Given the description of an element on the screen output the (x, y) to click on. 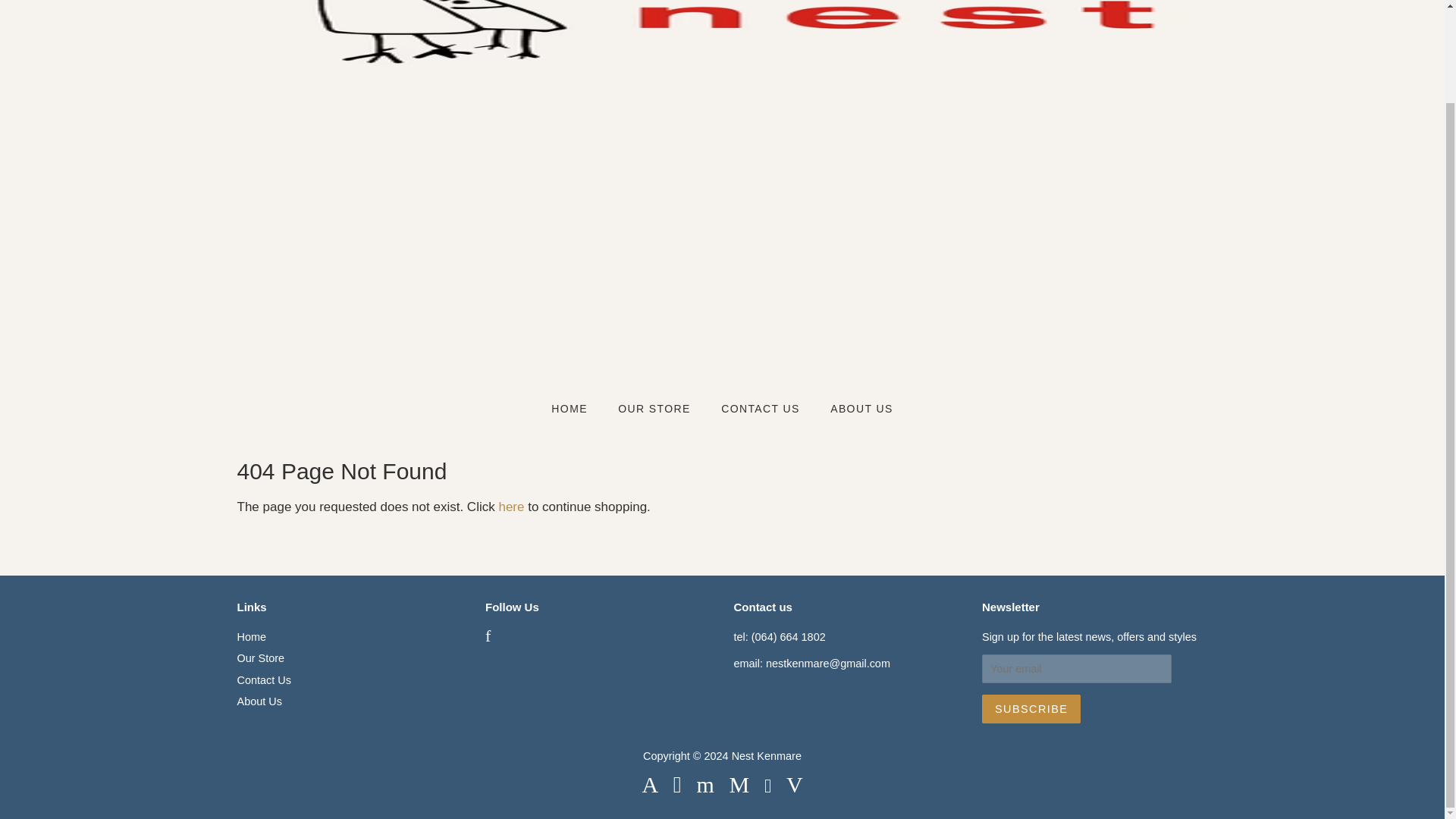
here (510, 506)
Subscribe (1030, 708)
Our Store (259, 657)
Home (250, 636)
CONTACT US (762, 409)
ABOUT US (855, 409)
HOME (576, 409)
Contact Us (262, 680)
OUR STORE (656, 409)
About Us (258, 701)
Subscribe (1030, 708)
Nest Kenmare (767, 756)
